Given the description of an element on the screen output the (x, y) to click on. 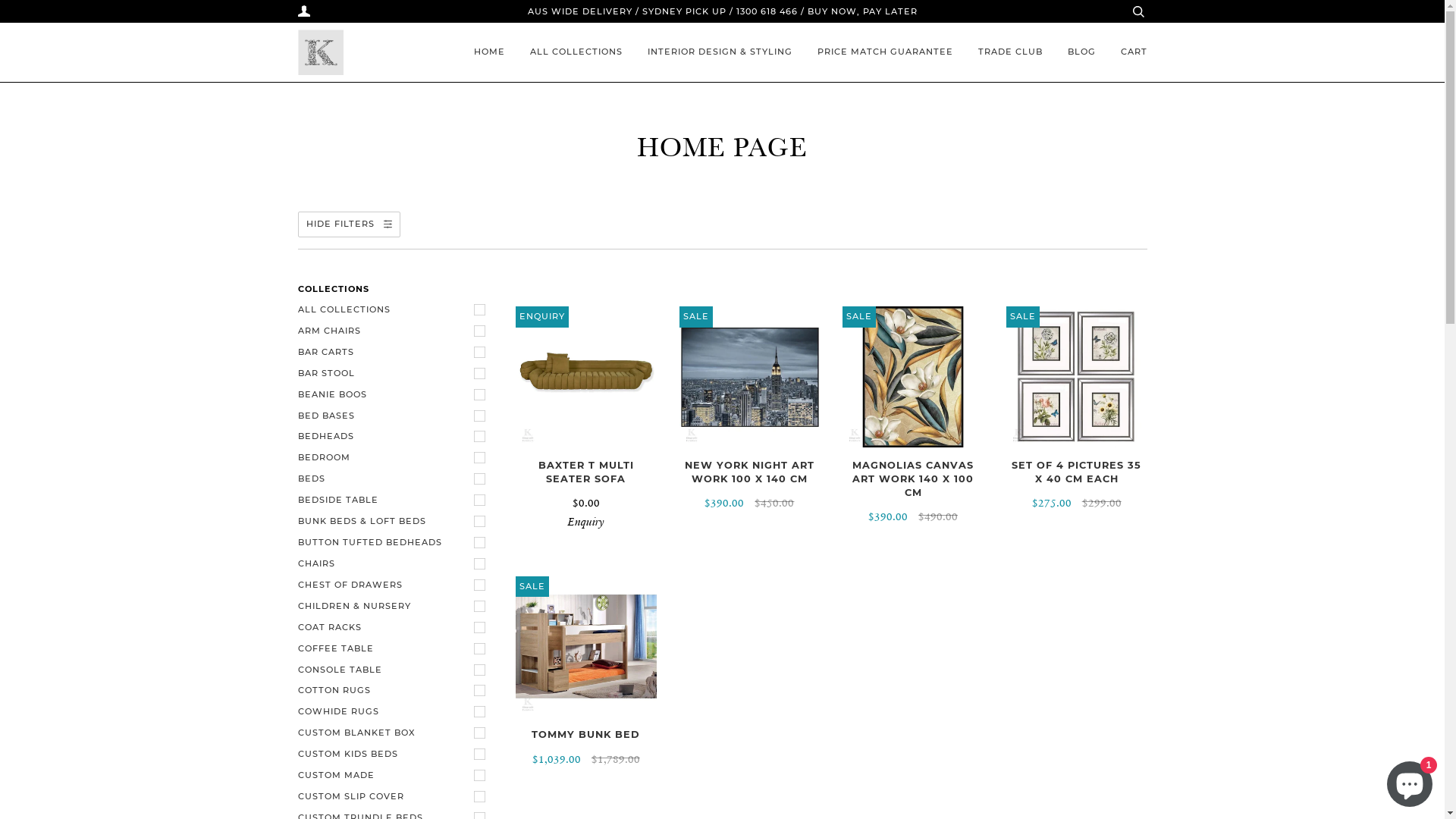
BEDS Element type: text (394, 478)
COAT RACKS Element type: text (394, 627)
BAXTER T MULTI SEATER SOFA
$0.00
Enquiry Element type: text (585, 494)
ENQUIRY Element type: text (585, 376)
ALL COLLECTIONS Element type: text (394, 309)
CUSTOM SLIP COVER Element type: text (394, 796)
HOME Element type: text (488, 51)
BUTTON TUFTED BEDHEADS Element type: text (394, 542)
BEDHEADS Element type: text (394, 436)
SALE Element type: text (1076, 376)
COFFEE TABLE Element type: text (394, 648)
BUNK BEDS & LOFT BEDS Element type: text (394, 521)
BUY NOW, PAY LATER Element type: text (861, 11)
HIDE FILTERS Element type: text (348, 224)
PRICE MATCH GUARANTEE Element type: text (885, 51)
CART Element type: text (1133, 51)
BEANIE BOOS Element type: text (394, 394)
ARM CHAIRS Element type: text (394, 331)
BEDROOM Element type: text (394, 457)
BED BASES Element type: text (394, 415)
TOMMY BUNK BED
$1,039.00 $1,789.00 Element type: text (585, 747)
SALE Element type: text (912, 376)
CHAIRS Element type: text (394, 563)
COTTON RUGS Element type: text (394, 690)
SALE Element type: text (749, 376)
NEW YORK NIGHT ART WORK 100 X 140 CM
$390.00 $450.00 Element type: text (749, 484)
CHILDREN & NURSERY Element type: text (394, 606)
TRADE CLUB Element type: text (1010, 51)
CUSTOM MADE Element type: text (394, 775)
CUSTOM BLANKET BOX Element type: text (394, 732)
COWHIDE RUGS Element type: text (394, 711)
BAR STOOL Element type: text (394, 373)
CUSTOM KIDS BEDS Element type: text (394, 754)
SALE Element type: text (585, 646)
BLOG Element type: text (1081, 51)
ALL COLLECTIONS Element type: text (575, 51)
MAGNOLIAS CANVAS ART WORK 140 X 100 CM
$390.00 $490.00 Element type: text (912, 491)
CHEST OF DRAWERS Element type: text (394, 585)
BEDSIDE TABLE Element type: text (394, 500)
INTERIOR DESIGN & STYLING Element type: text (719, 51)
CONSOLE TABLE Element type: text (394, 669)
SET OF 4 PICTURES 35 X 40 CM EACH
$275.00 $299.00 Element type: text (1076, 484)
BAR CARTS Element type: text (394, 352)
